Given the description of an element on the screen output the (x, y) to click on. 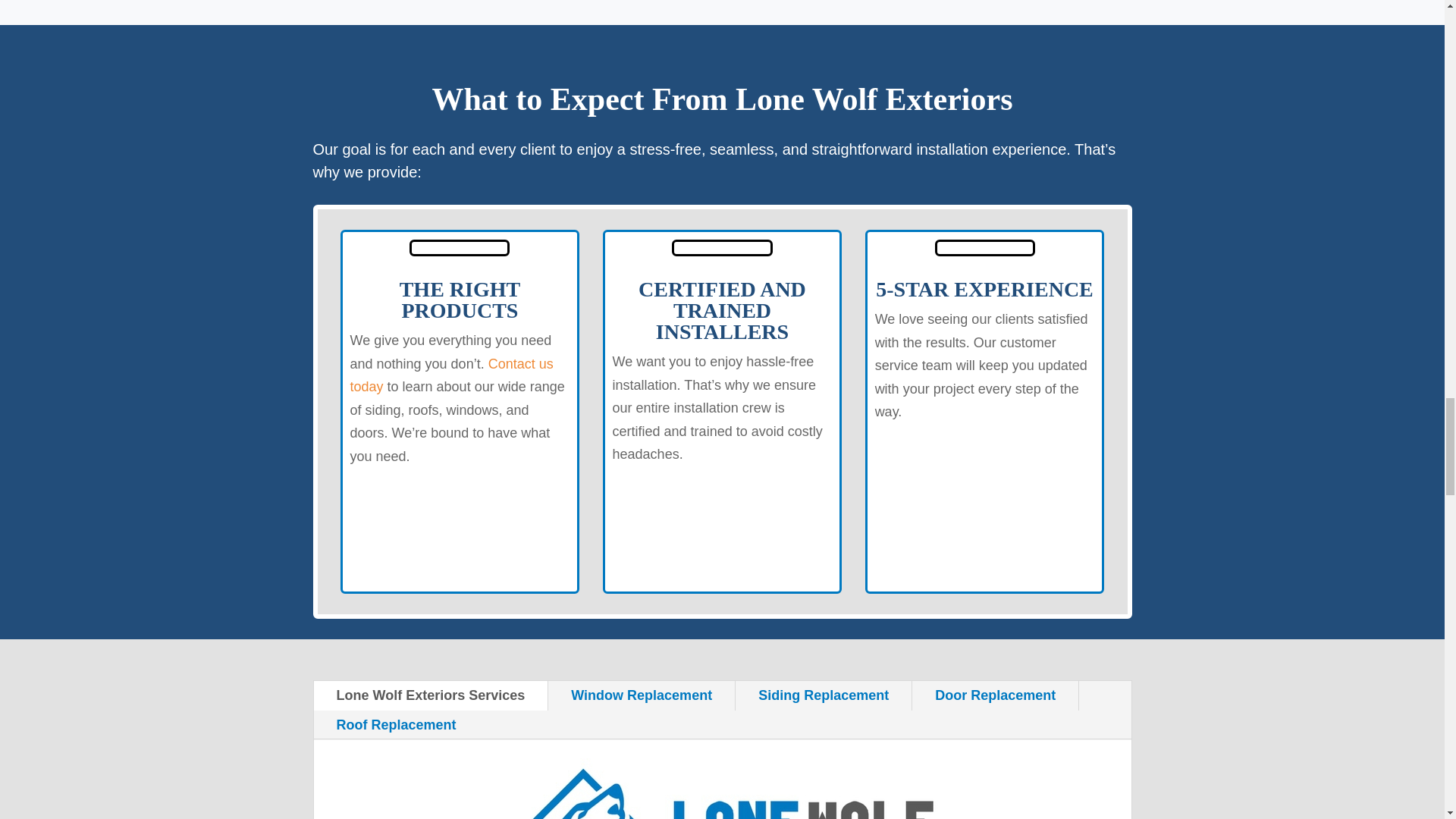
Contact us today (451, 375)
Siding Replacement (823, 695)
Roof Replacement (396, 725)
Window Replacement (641, 695)
Door Replacement (995, 695)
Lone Wolf Exteriors Services (431, 695)
